Given the description of an element on the screen output the (x, y) to click on. 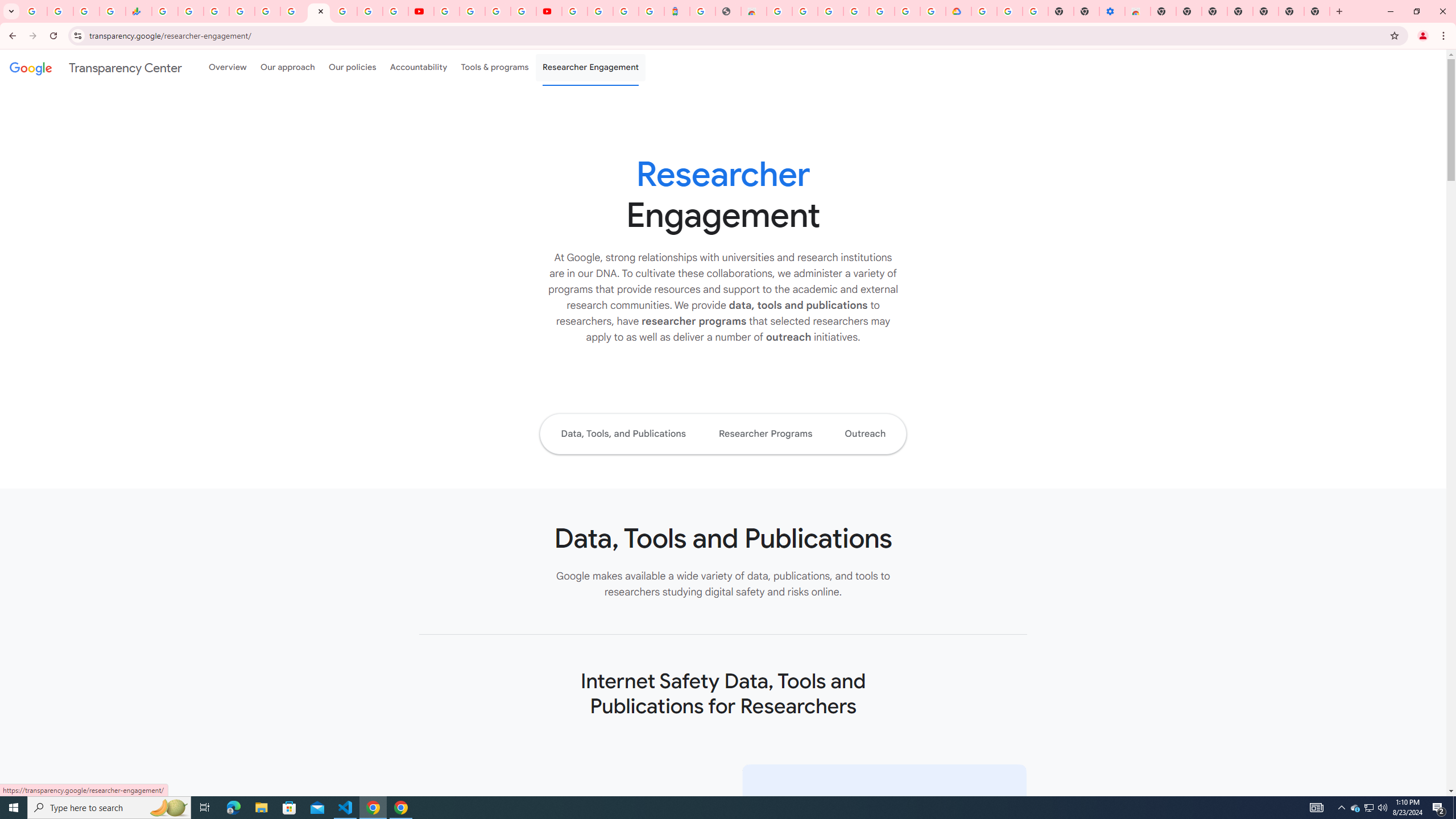
New Tab (1316, 11)
Our approach (287, 67)
Google Account Help (472, 11)
New Tab (1265, 11)
Accountability (418, 67)
Sign in - Google Accounts (830, 11)
